Given the description of an element on the screen output the (x, y) to click on. 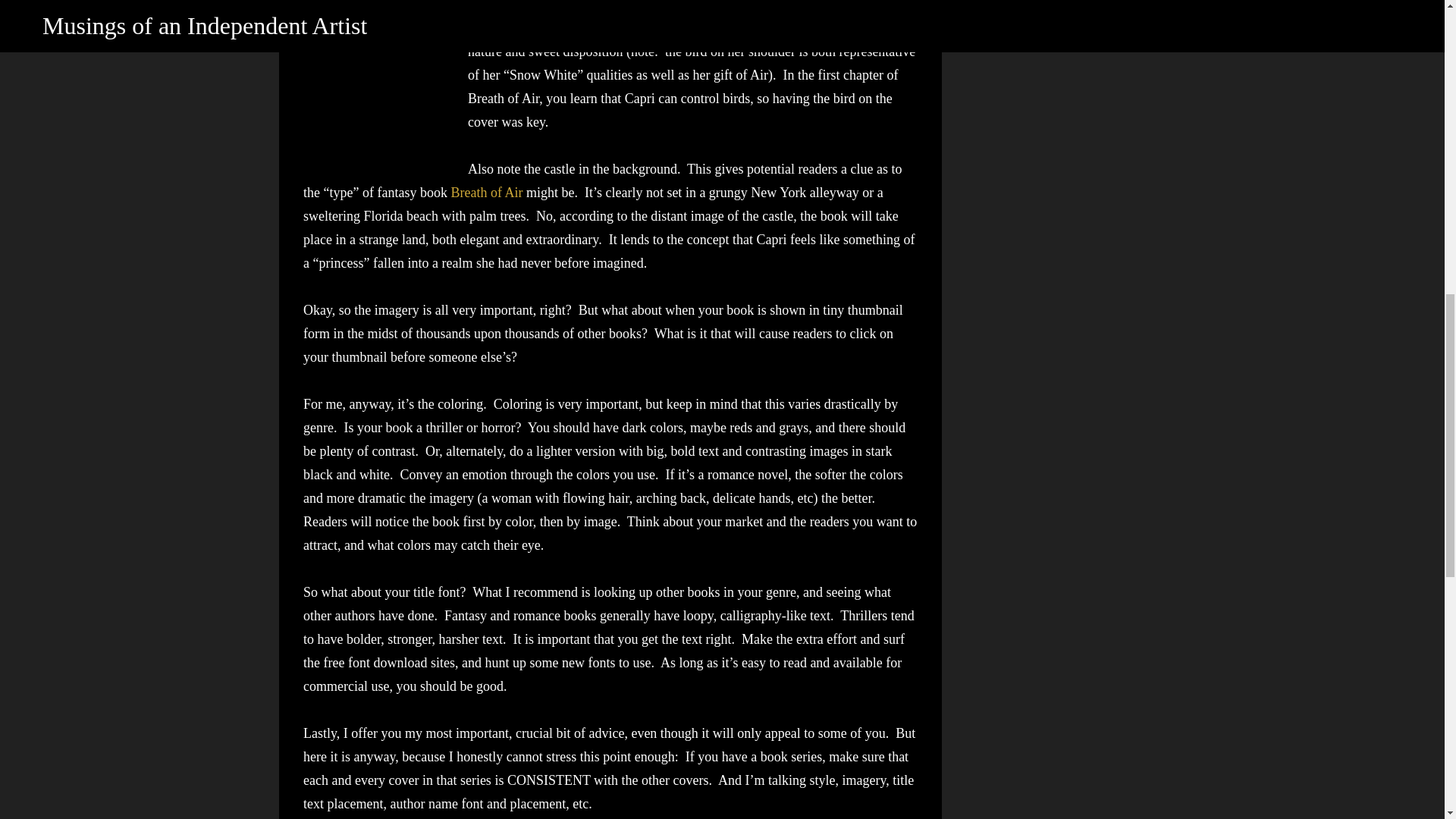
Breath of Air (485, 192)
